Given the description of an element on the screen output the (x, y) to click on. 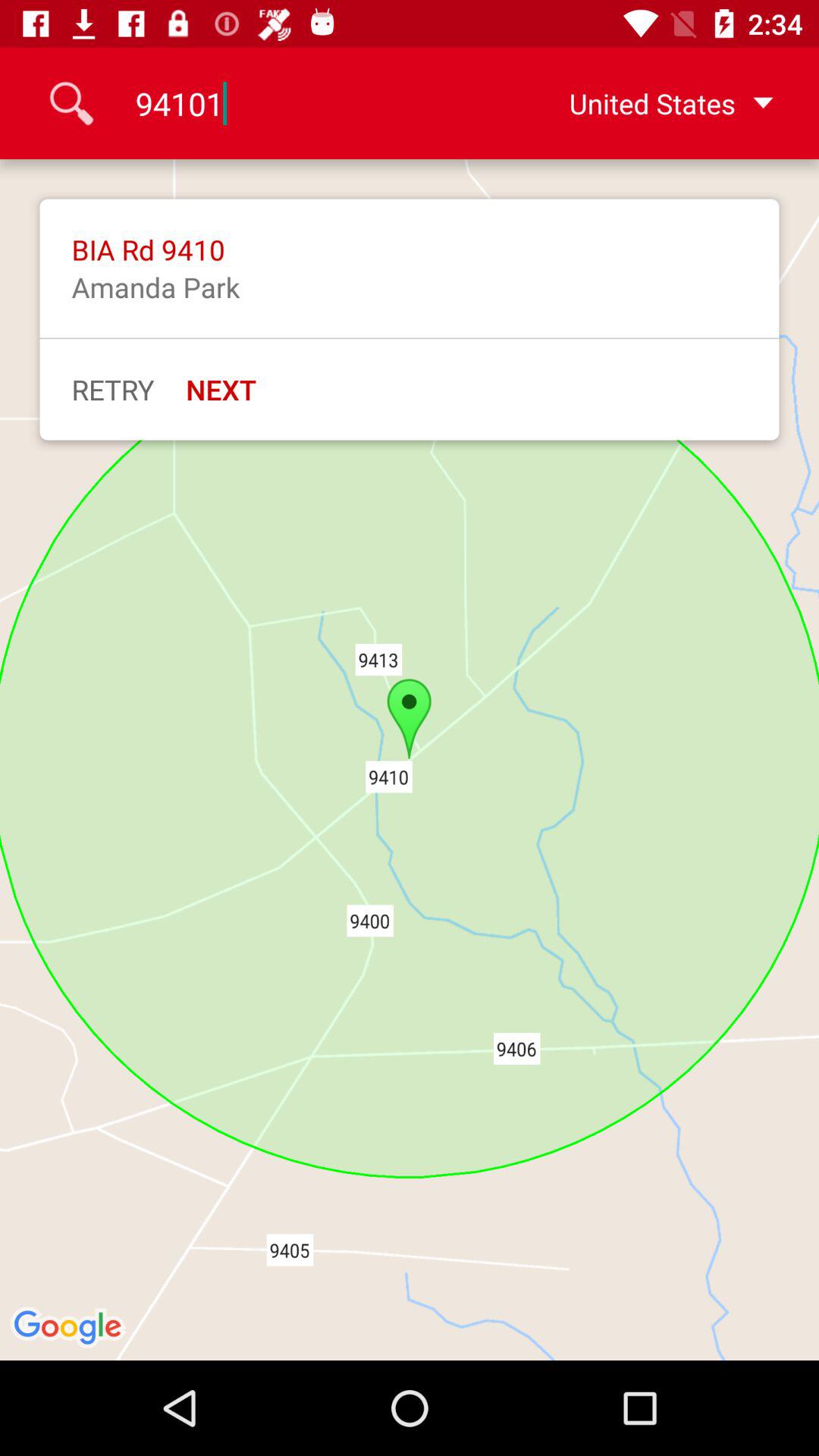
swipe to the retry item (112, 389)
